Given the description of an element on the screen output the (x, y) to click on. 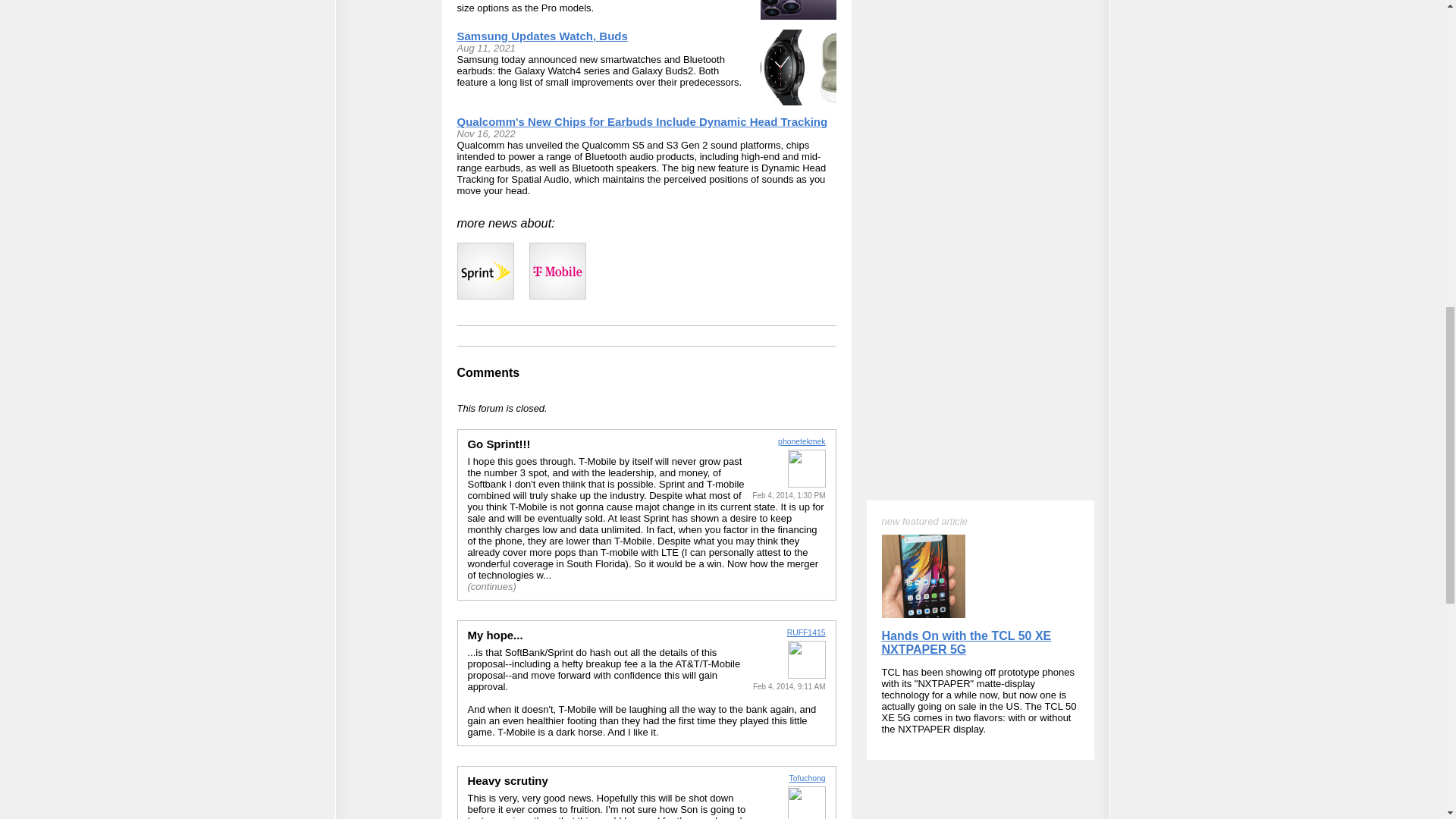
Tofuchong (807, 777)
RUFF1415 (806, 632)
phonetekmek (801, 441)
Sprint (485, 270)
Comments (488, 372)
Hands On with the TCL 50 XE NXTPAPER 5G (965, 90)
T-Mobile (557, 270)
